Given the description of an element on the screen output the (x, y) to click on. 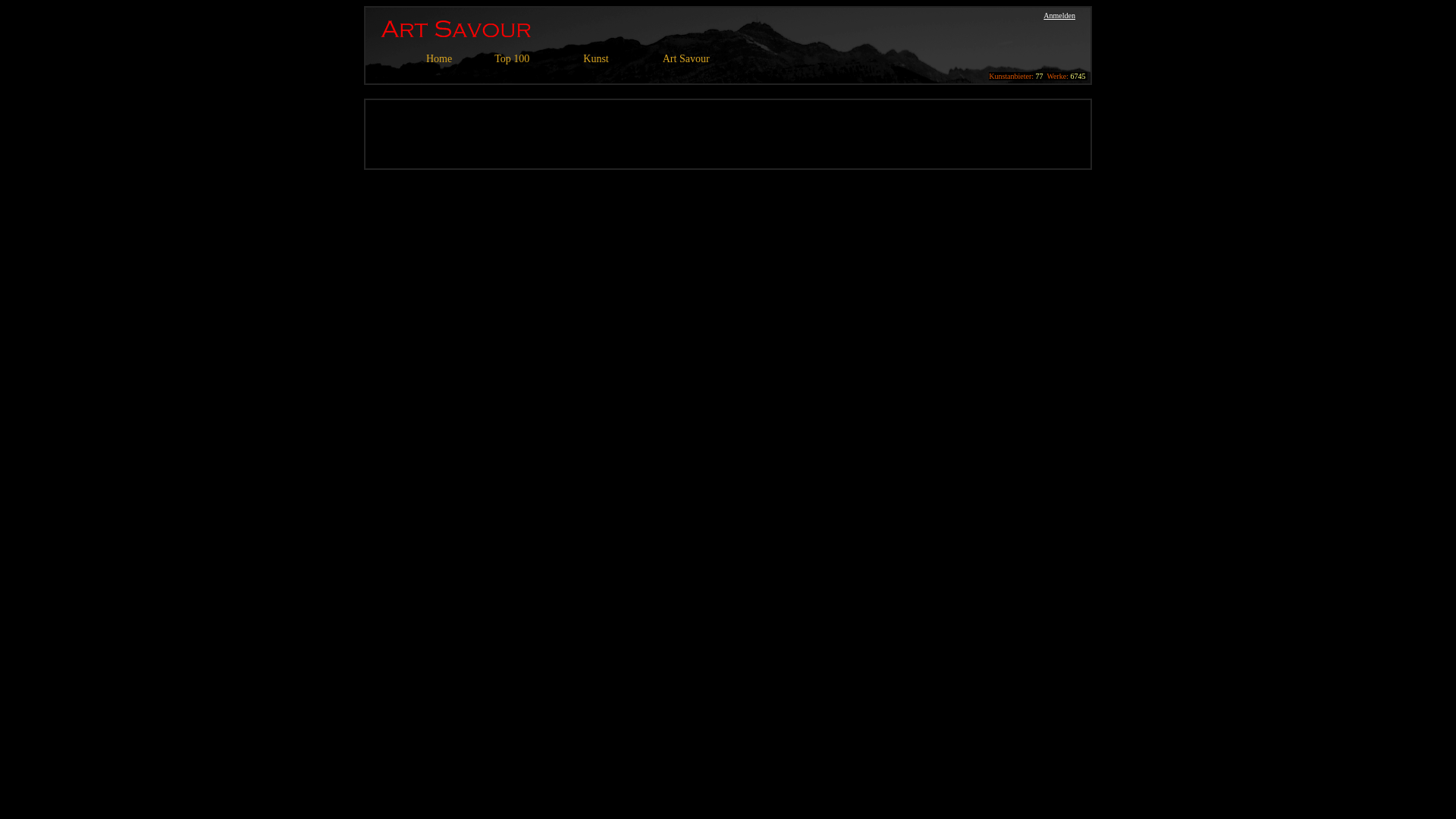
Anmelden Element type: text (1059, 15)
Art Savour Element type: text (685, 58)
Kunst Element type: text (595, 58)
Home Element type: text (438, 58)
Top 100 Element type: text (511, 58)
